Given the description of an element on the screen output the (x, y) to click on. 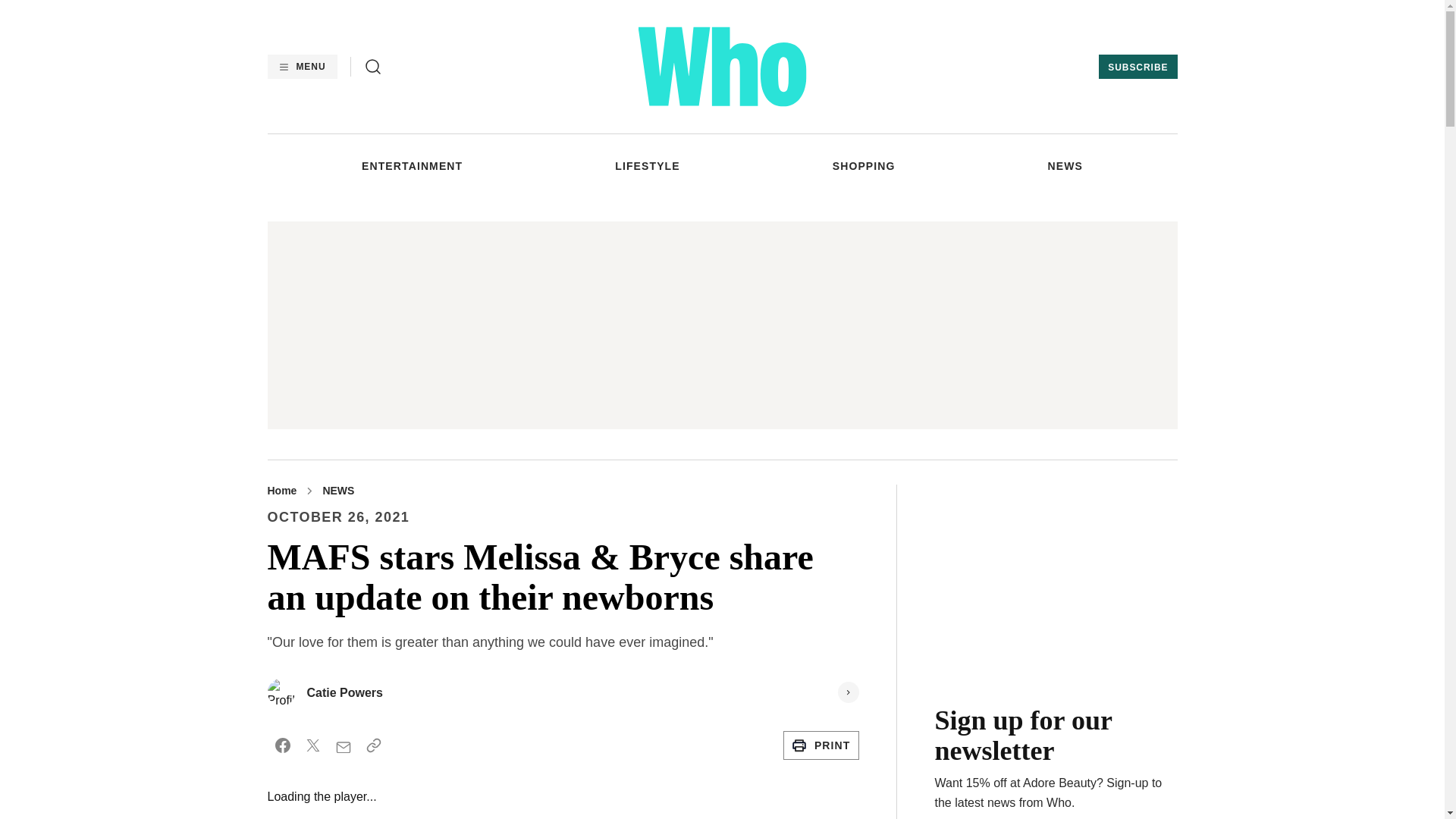
SHOPPING (863, 165)
LIFESTYLE (646, 165)
NEWS (1065, 165)
ENTERTAINMENT (412, 165)
MENU (301, 66)
SUBSCRIBE (1137, 66)
